Given the description of an element on the screen output the (x, y) to click on. 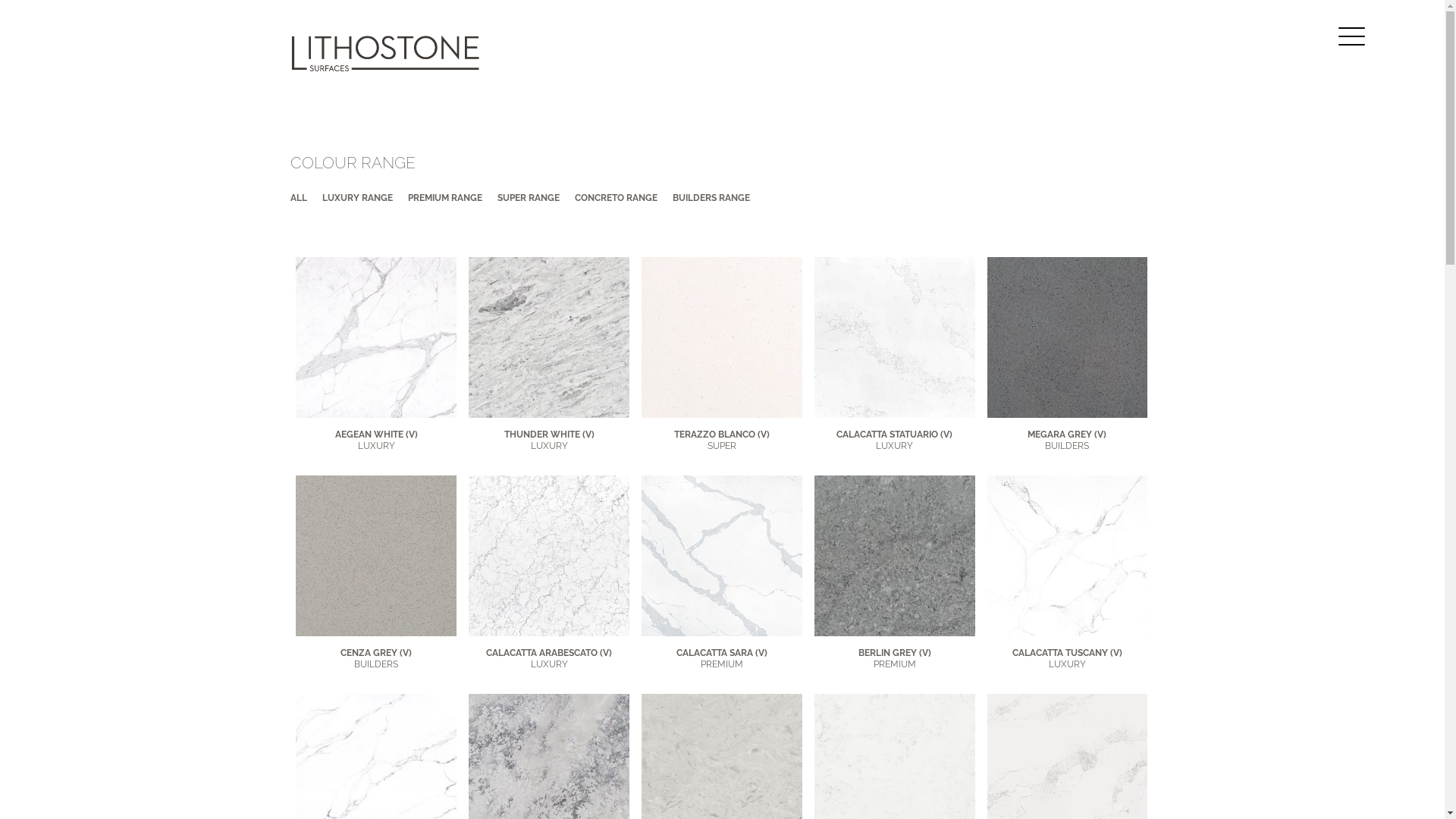
CALACATTA STATUARIO (V)
LUXURY Element type: text (894, 440)
CENZA GREY (V)
BUILDERS Element type: text (375, 658)
SUPER RANGE Element type: text (528, 197)
MEGARA GREY (V)
BUILDERS Element type: text (1066, 440)
LUXURY RANGE Element type: text (356, 197)
TERAZZO BLANCO (V)
SUPER Element type: text (721, 440)
PREMIUM RANGE Element type: text (444, 197)
BERLIN GREY (V)
PREMIUM Element type: text (894, 658)
ALL Element type: text (297, 197)
THUNDER WHITE (V)
LUXURY Element type: text (549, 440)
BUILDERS RANGE Element type: text (710, 197)
AEGEAN WHITE (V)
LUXURY Element type: text (376, 440)
CALACATTA ARABESCATO (V)
LUXURY Element type: text (548, 658)
CALACATTA SARA (V)
PREMIUM Element type: text (721, 658)
CONCRETO RANGE Element type: text (615, 197)
CALACATTA TUSCANY (V)
LUXURY Element type: text (1067, 658)
